Given the description of an element on the screen output the (x, y) to click on. 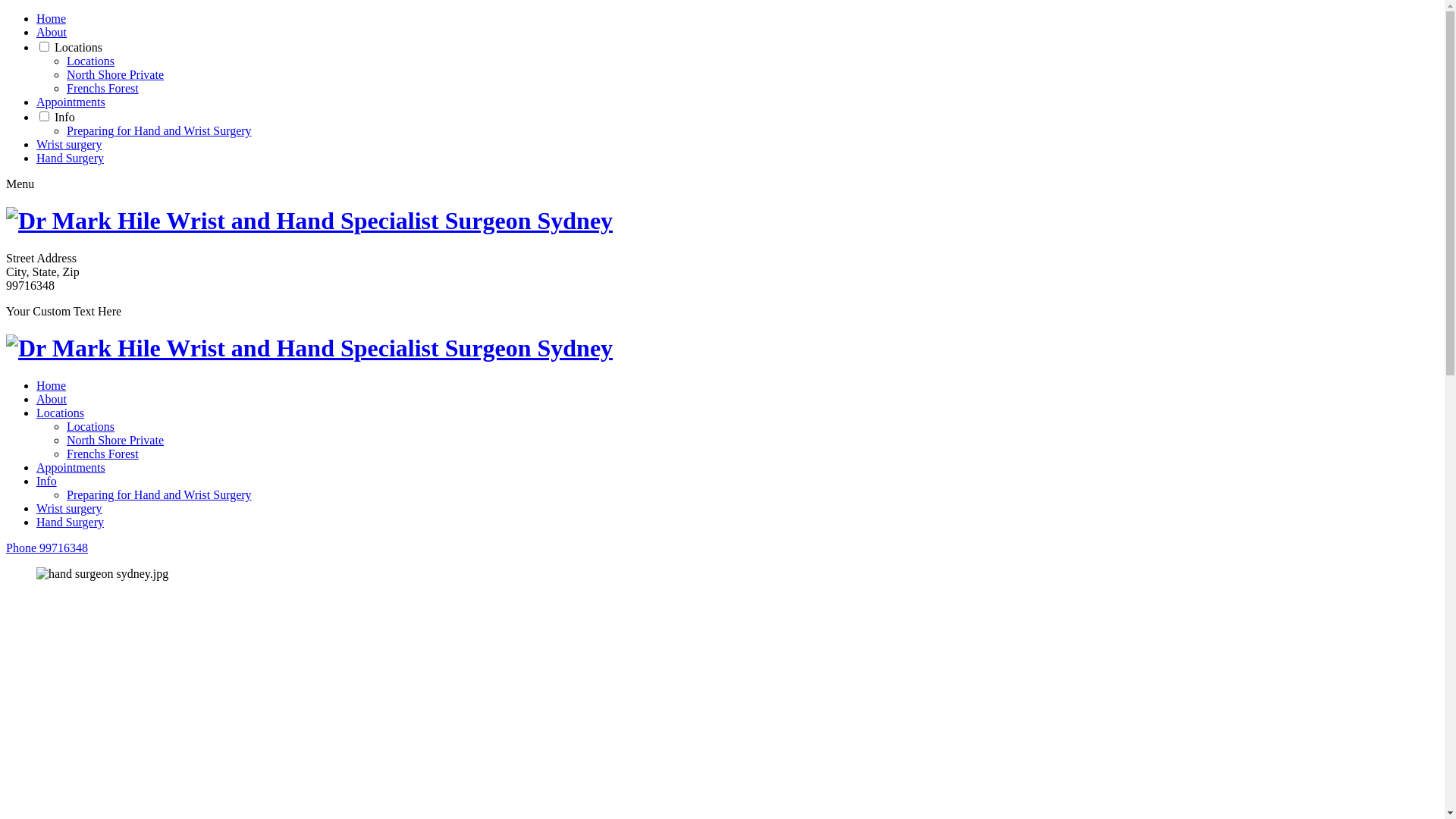
Hand Surgery Element type: text (69, 157)
Locations Element type: text (78, 46)
Preparing for Hand and Wrist Surgery Element type: text (158, 494)
About Element type: text (51, 398)
North Shore Private Element type: text (114, 439)
Appointments Element type: text (70, 467)
Wrist surgery Element type: text (69, 508)
Frenchs Forest Element type: text (102, 453)
Hand Surgery Element type: text (69, 521)
Frenchs Forest Element type: text (102, 87)
Info Element type: text (64, 116)
Info Element type: text (46, 480)
Phone 99716348 Element type: text (46, 547)
Preparing for Hand and Wrist Surgery Element type: text (158, 130)
Wrist surgery Element type: text (69, 144)
Locations Element type: text (60, 412)
Home Element type: text (50, 18)
Locations Element type: text (90, 426)
Home Element type: text (50, 385)
Appointments Element type: text (70, 101)
North Shore Private Element type: text (114, 74)
About Element type: text (51, 31)
Locations Element type: text (90, 60)
Menu Element type: text (20, 183)
